Given the description of an element on the screen output the (x, y) to click on. 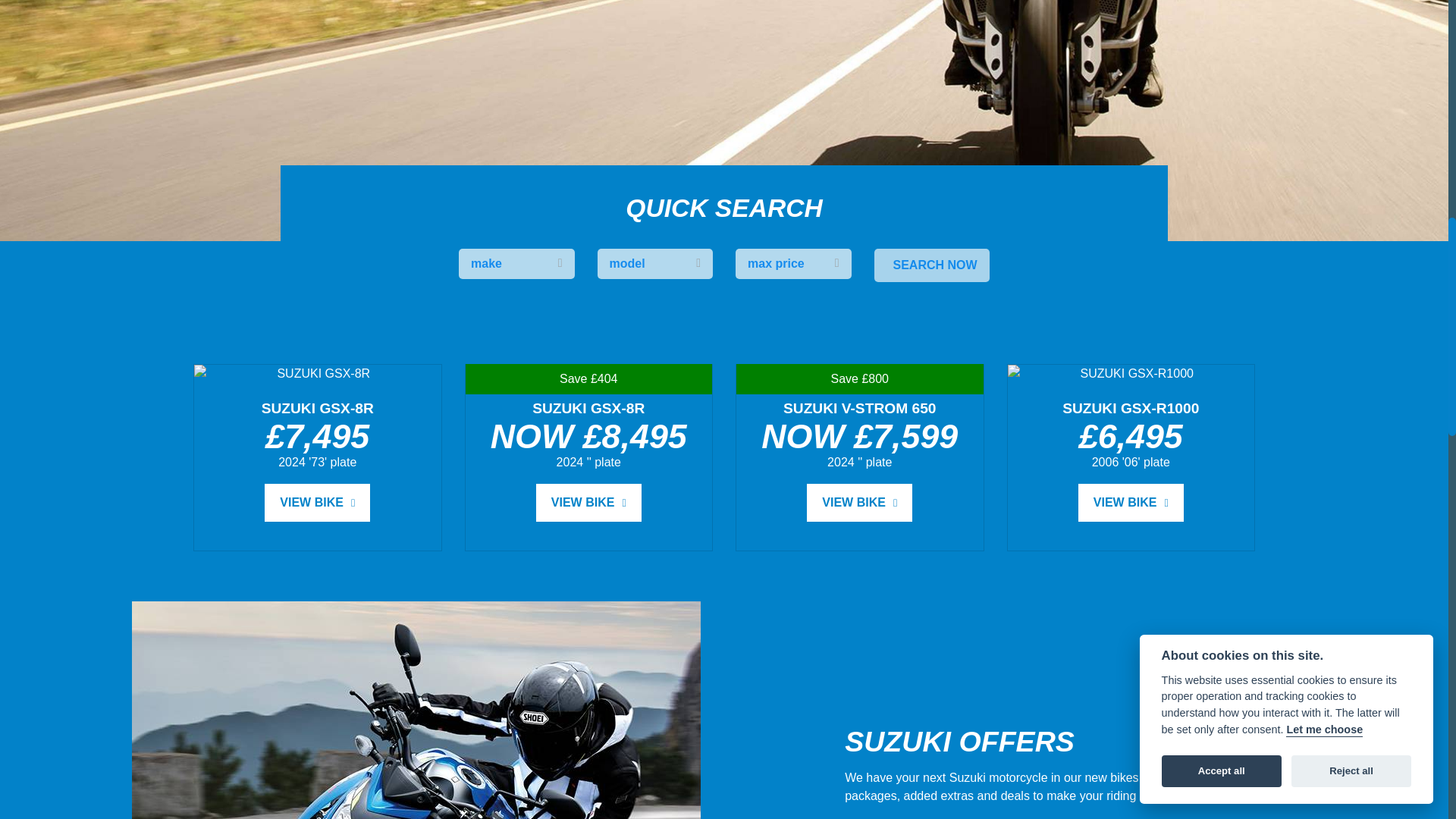
Search now (931, 264)
Search now (931, 264)
Search now (931, 264)
